Given the description of an element on the screen output the (x, y) to click on. 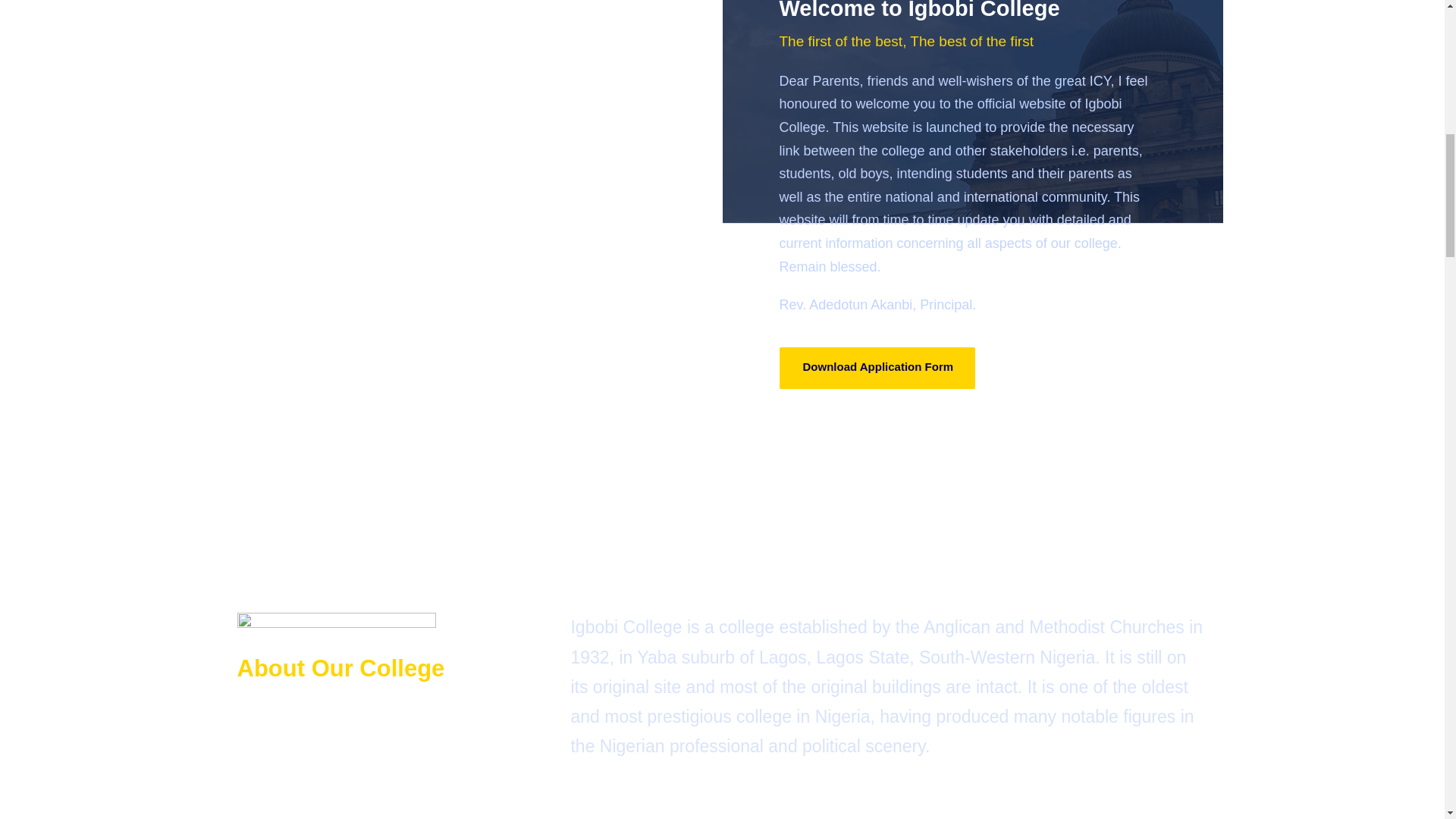
logowhiteic (335, 625)
